Given the description of an element on the screen output the (x, y) to click on. 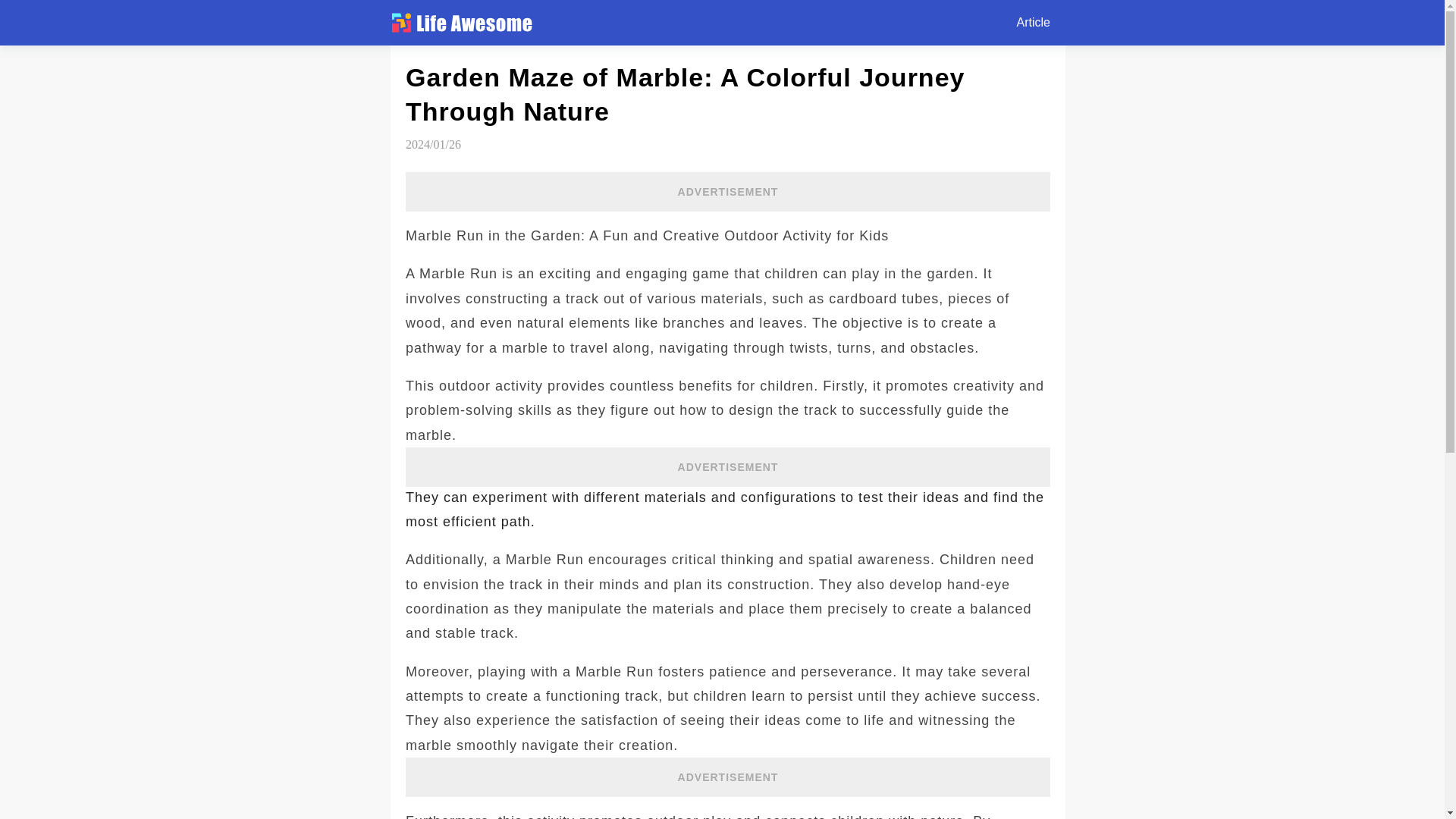
Article (1033, 22)
